Given the description of an element on the screen output the (x, y) to click on. 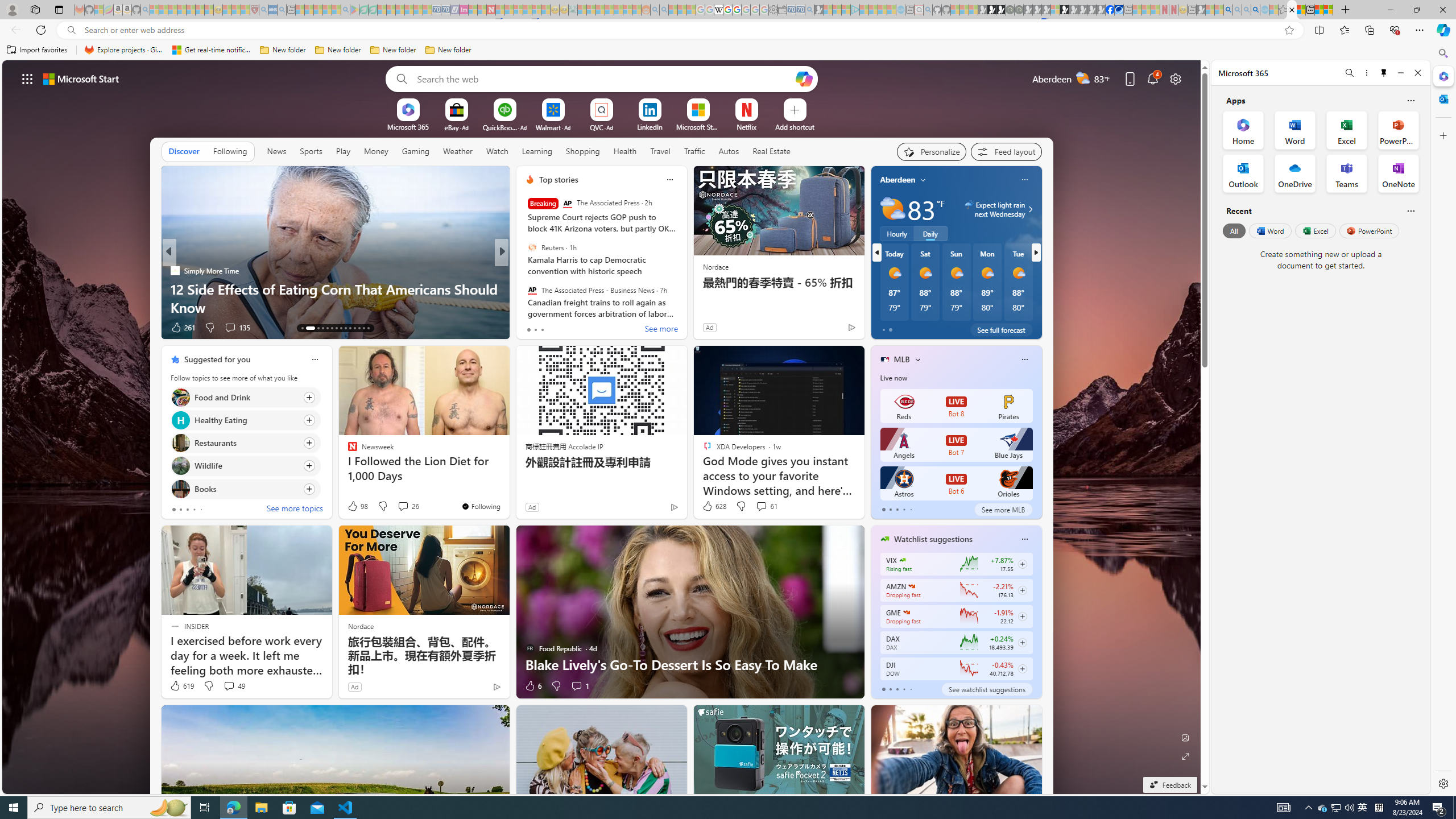
Class: follow-button  m (1021, 668)
View comments 31 Comment (585, 327)
AutomationID: tab-14 (306, 328)
Nordace | Facebook (1109, 9)
Mostly sunny (1018, 273)
Click to follow topic Wildlife (245, 465)
next (1035, 252)
Wildlife (180, 466)
Restaurants (180, 443)
Click to follow topic Restaurants (245, 442)
Enter your search term (603, 78)
